Given the description of an element on the screen output the (x, y) to click on. 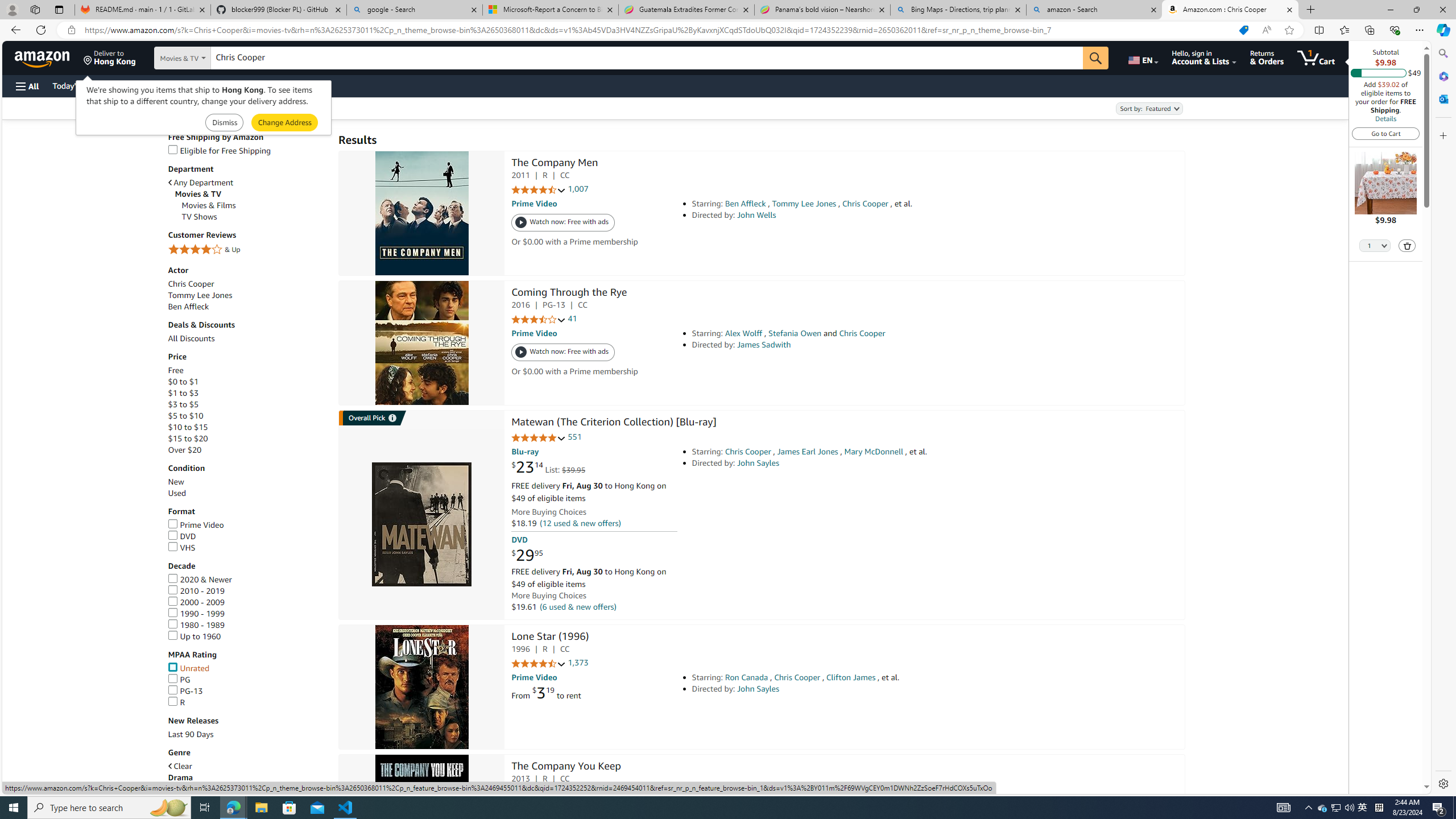
The Company Men (421, 213)
Returns & Orders (1266, 57)
Search in (210, 58)
Search Amazon (647, 57)
PG-13 (247, 691)
Blu-ray (524, 451)
All Discounts (247, 338)
Skip to main search results (50, 788)
4.4 out of 5 stars (538, 663)
2000 - 2009 (247, 602)
The Company Men (554, 163)
Sort by: (1148, 108)
